Given the description of an element on the screen output the (x, y) to click on. 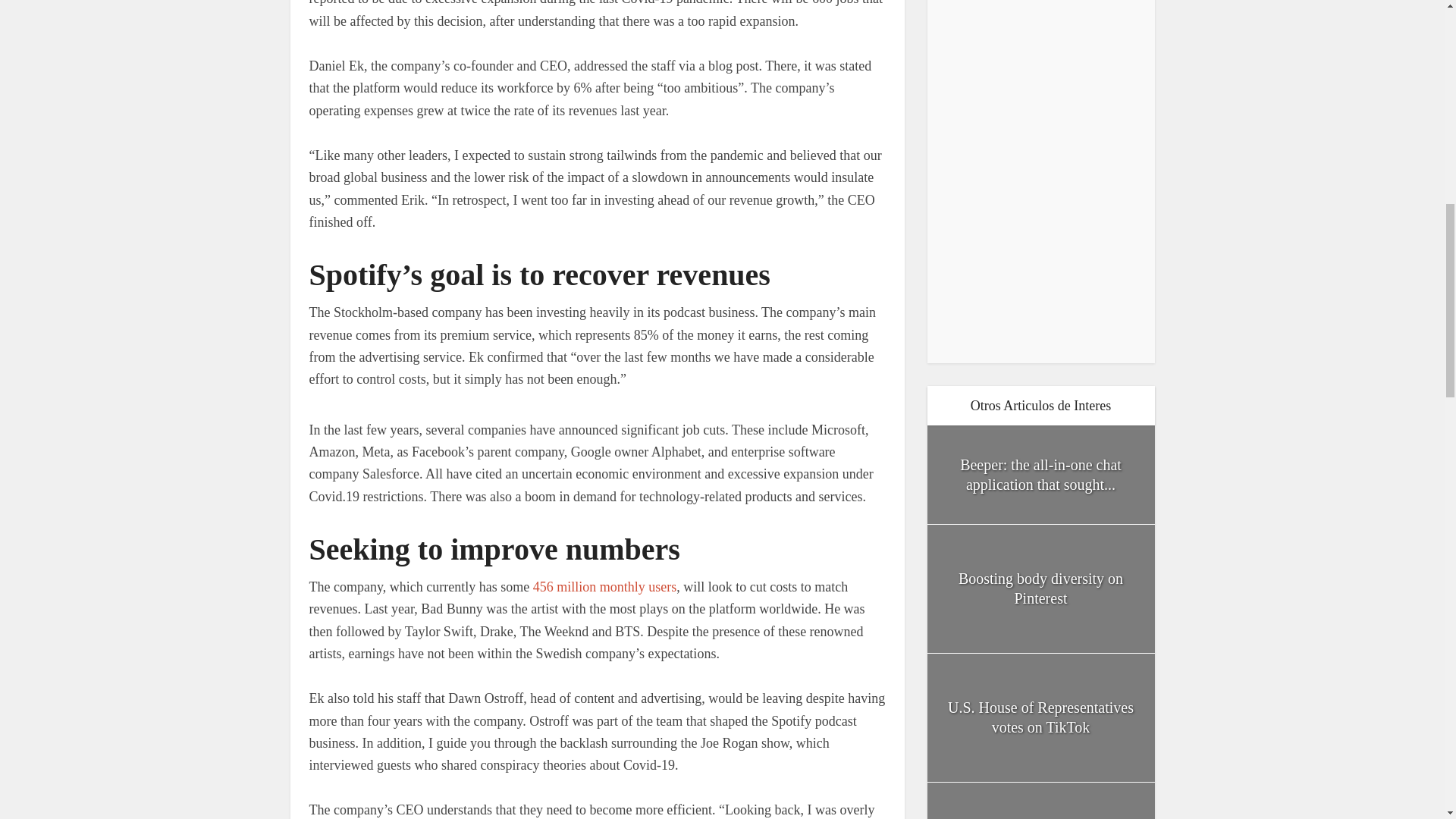
Boosting body diversity on Pinterest (1040, 588)
Boosting body diversity on Pinterest (1040, 588)
456 million monthly users (604, 586)
U.S. House of Representatives votes on TikTok (1040, 717)
U.S. House of Representatives votes on TikTok (1040, 717)
